Given the description of an element on the screen output the (x, y) to click on. 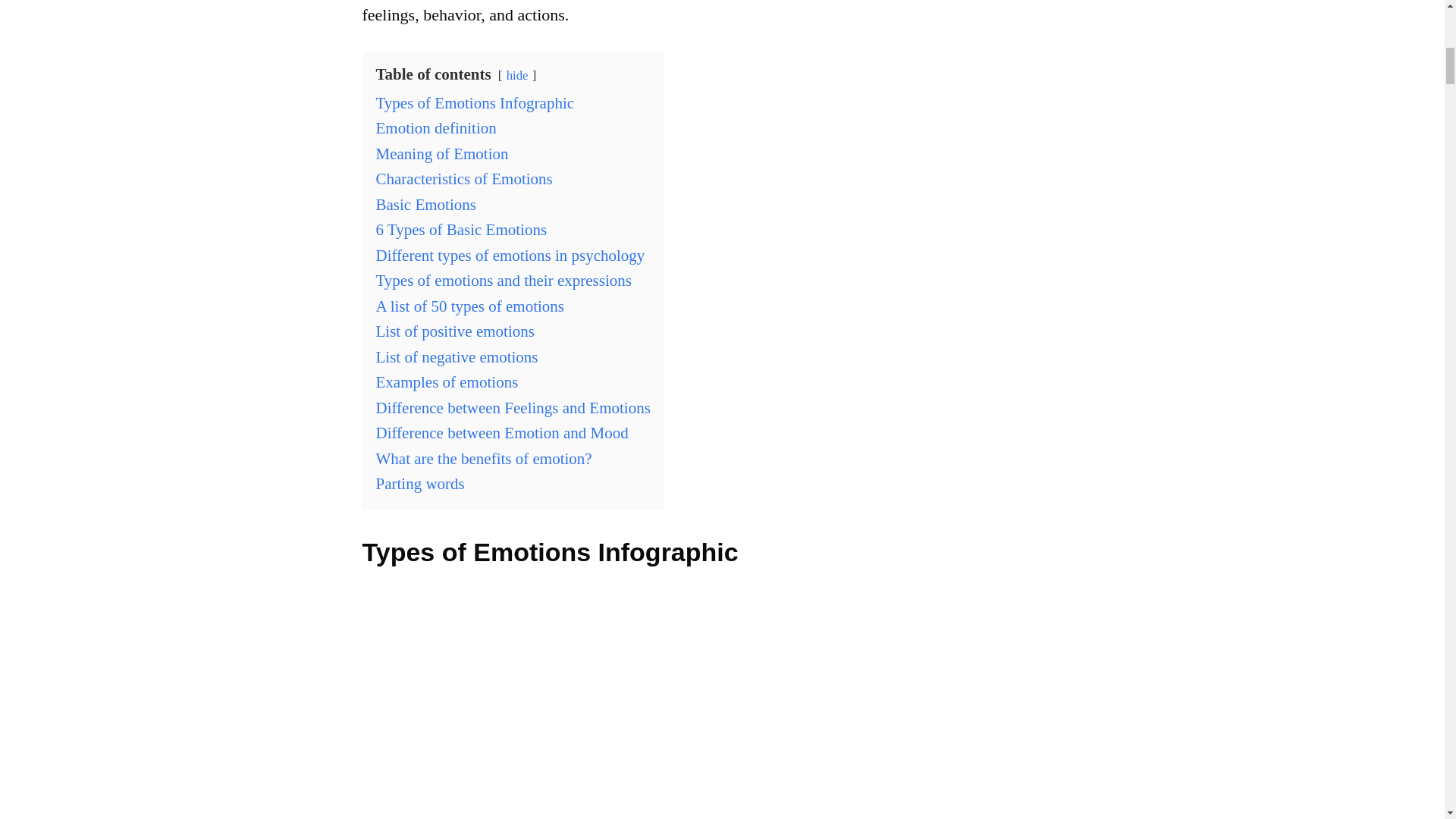
hide (517, 74)
Characteristics of Emotions (464, 178)
Different types of emotions in psychology (510, 255)
Examples of emotions (446, 382)
Difference between Emotion and Mood (501, 433)
Meaning of Emotion (441, 153)
List of positive emotions (454, 331)
6 Types of Basic Emotions (461, 229)
A list of 50 types of emotions (469, 306)
List of negative emotions (456, 357)
Basic Emotions (425, 204)
Types of emotions and their expressions (503, 280)
Difference between Feelings and Emotions (512, 407)
Types of Emotions Infographic (475, 103)
Emotion definition (435, 127)
